Given the description of an element on the screen output the (x, y) to click on. 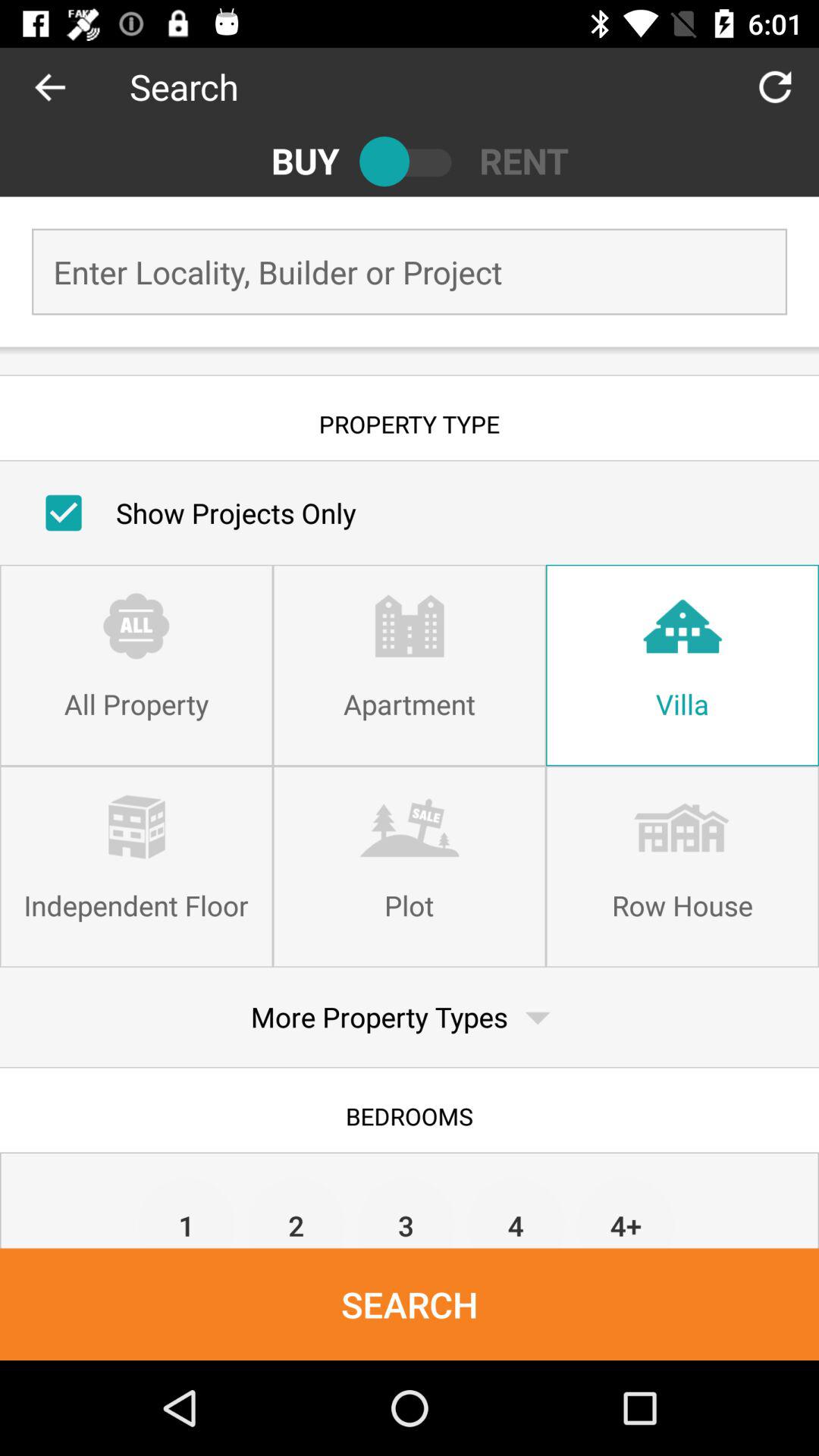
click the item above search item (406, 1212)
